Given the description of an element on the screen output the (x, y) to click on. 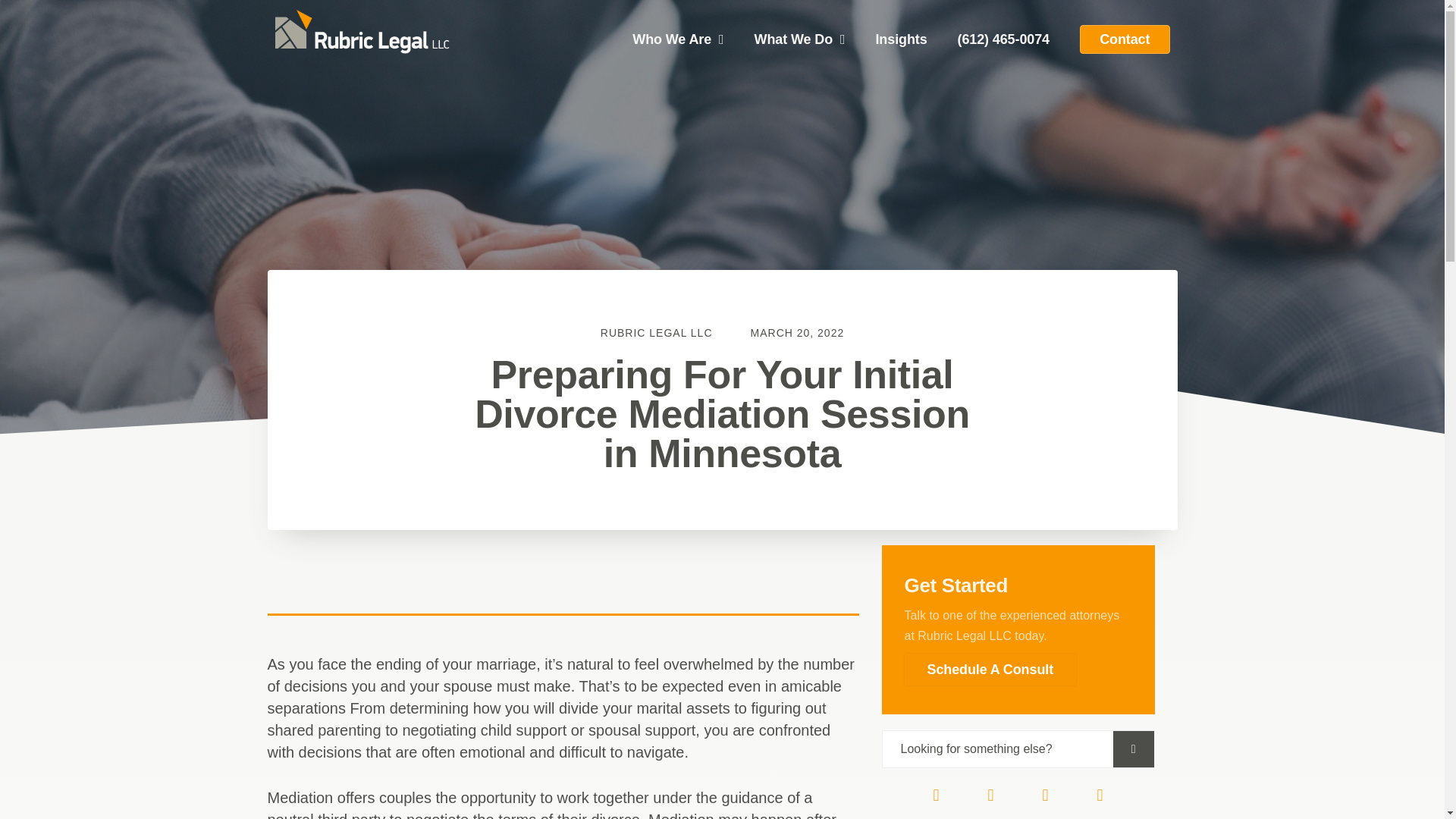
Contact (1125, 39)
Search (997, 749)
Insights (901, 39)
Who We Are (677, 39)
What We Do (799, 39)
